Given the description of an element on the screen output the (x, y) to click on. 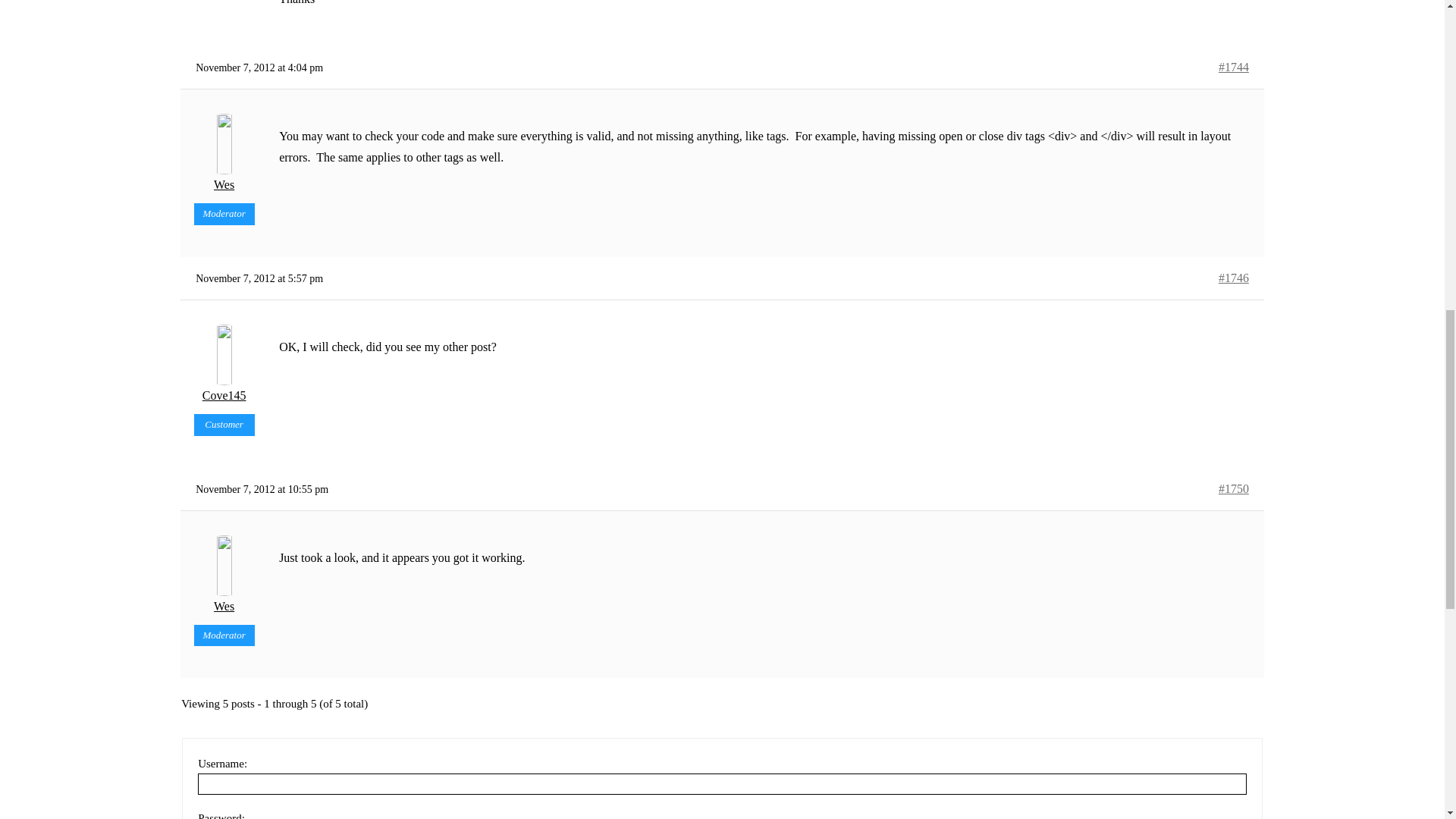
View Wes's profile (223, 154)
View Cove145's profile (223, 365)
Cove145 (223, 365)
View Wes's profile (223, 576)
Wes (223, 576)
Wes (223, 154)
